Given the description of an element on the screen output the (x, y) to click on. 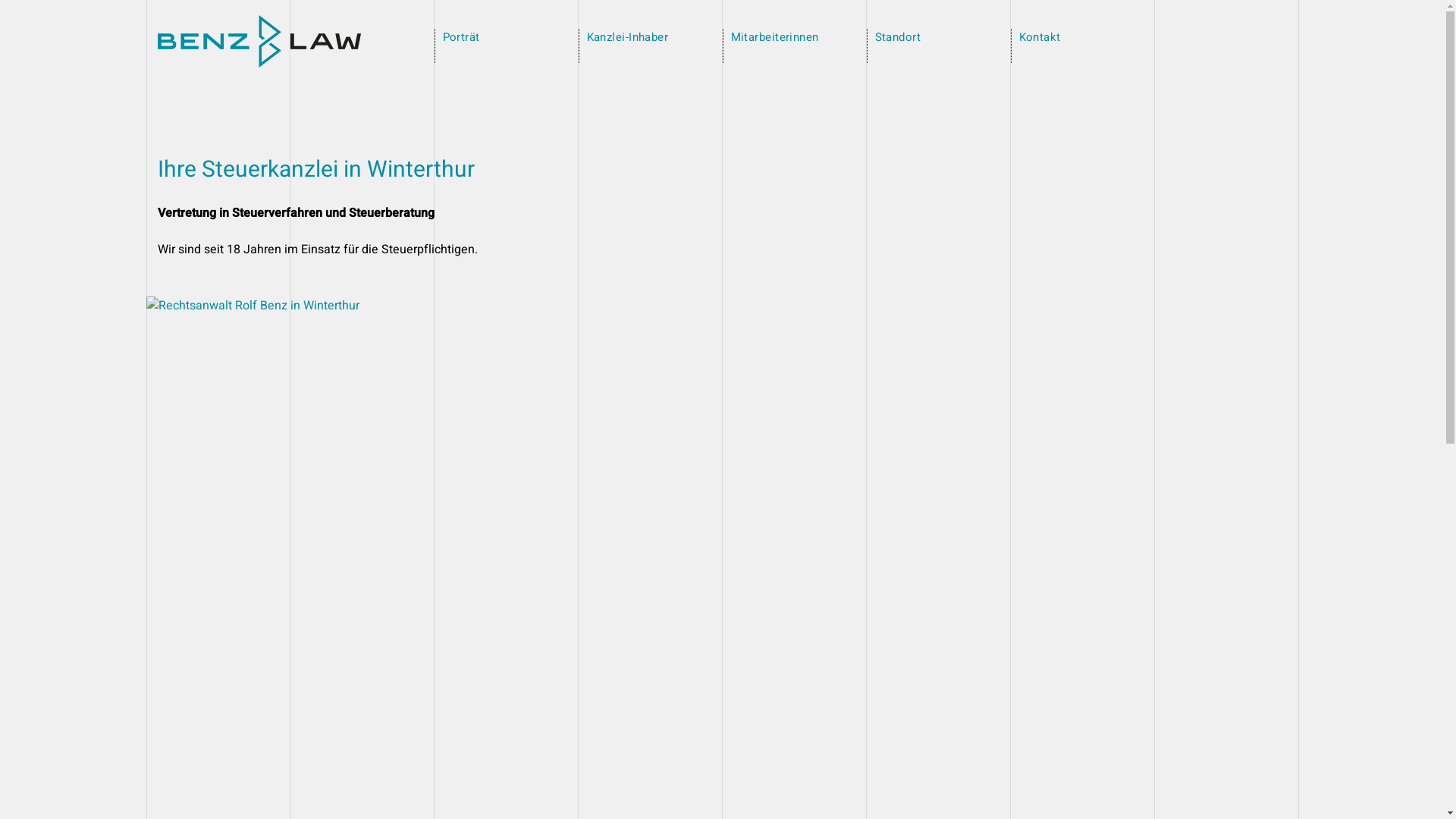
Kanzlei-Inhaber Element type: text (627, 36)
Standort Element type: text (898, 36)
Kontakt Element type: text (1039, 36)
Mitarbeiterinnen Element type: text (775, 36)
